Given the description of an element on the screen output the (x, y) to click on. 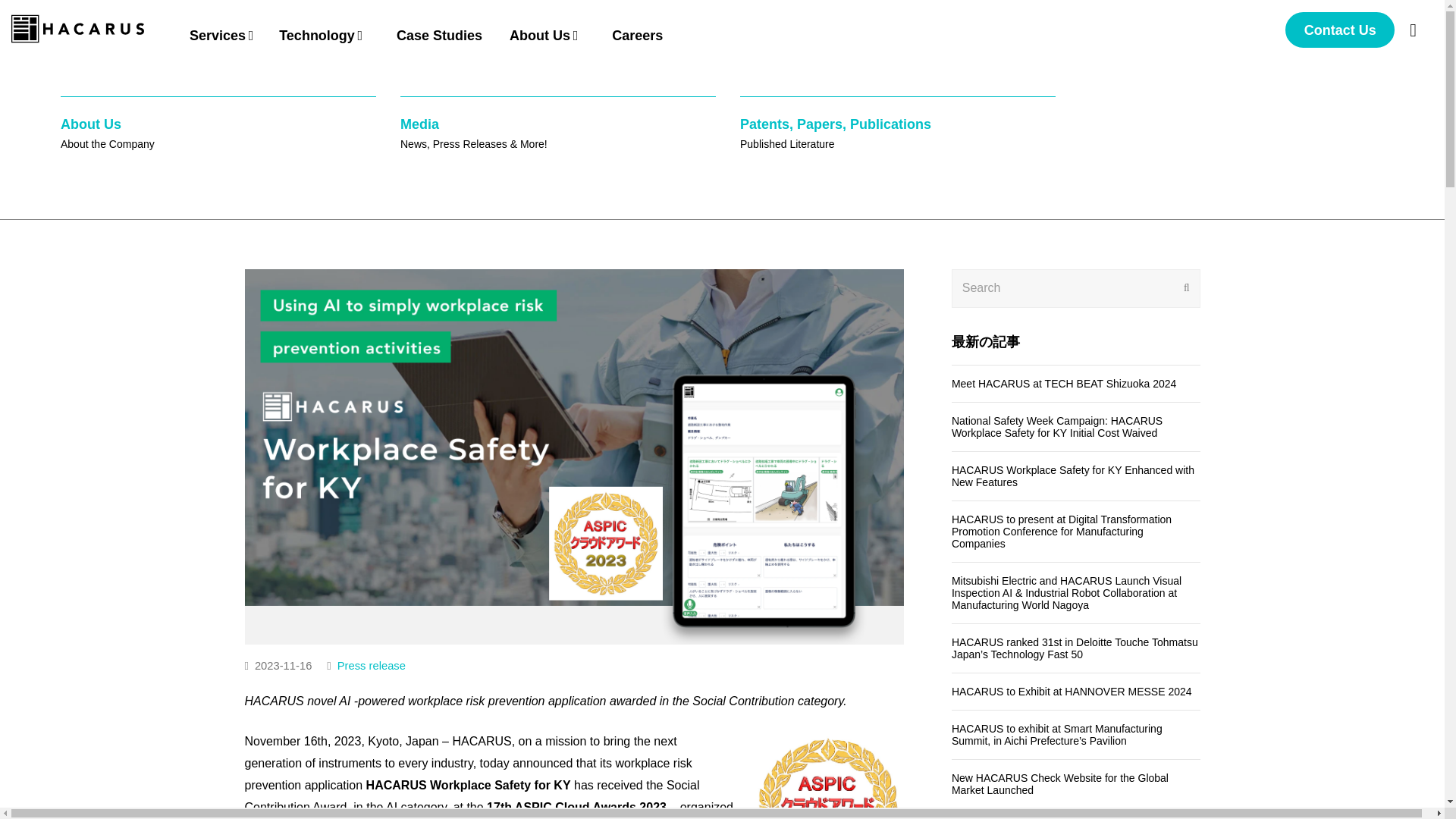
Press release (371, 665)
About Us (547, 34)
Technology (324, 34)
Case Studies (438, 33)
Careers (636, 33)
Press release (558, 133)
Services (897, 133)
Contact Us (371, 665)
Meet HACARUS at TECH BEAT Shizuoka 2024 (224, 34)
HACARUS (218, 133)
